Given the description of an element on the screen output the (x, y) to click on. 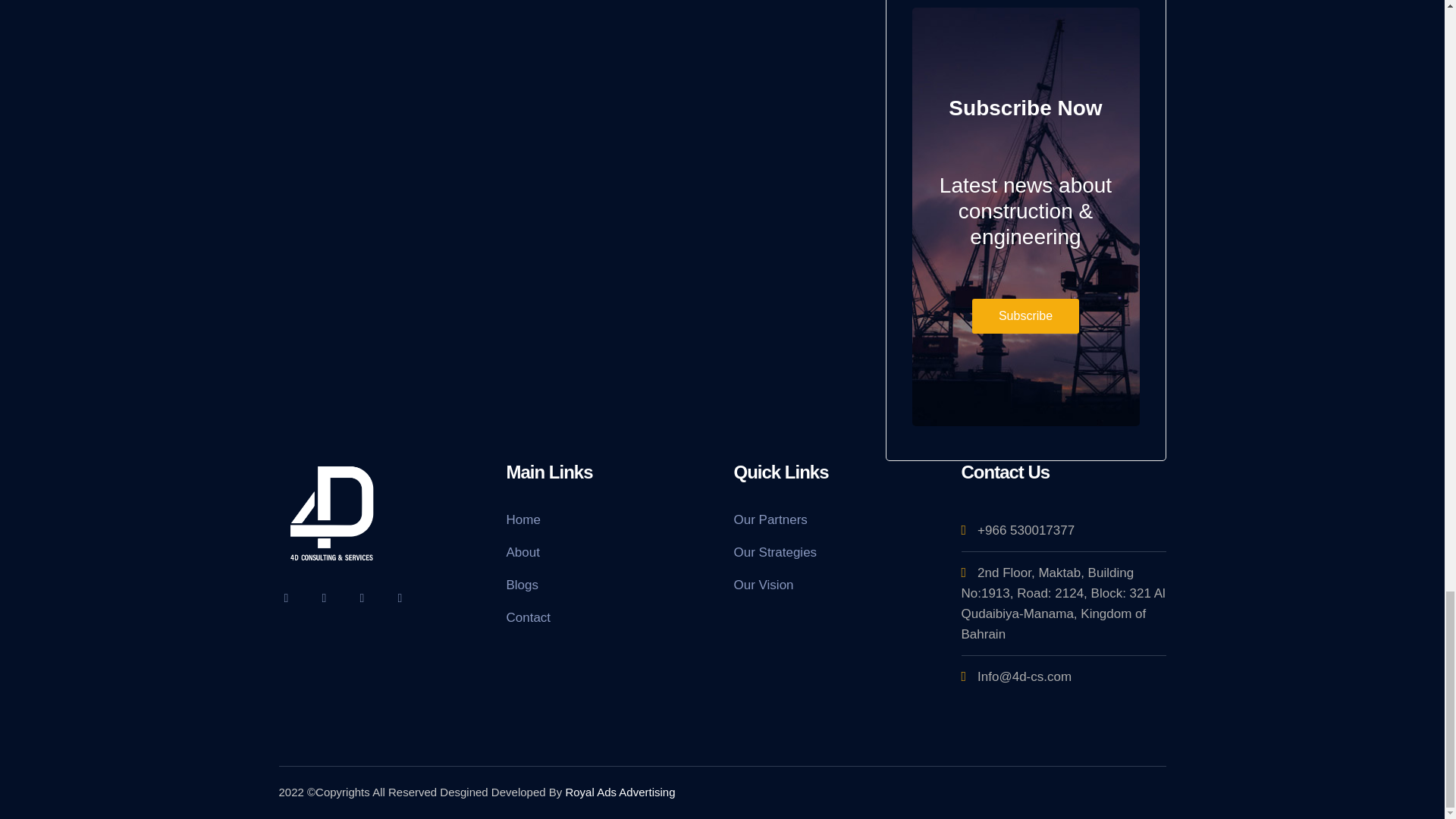
facebook-f (324, 596)
twitter (286, 596)
linkedin-in (362, 596)
instagram (400, 596)
